Given the description of an element on the screen output the (x, y) to click on. 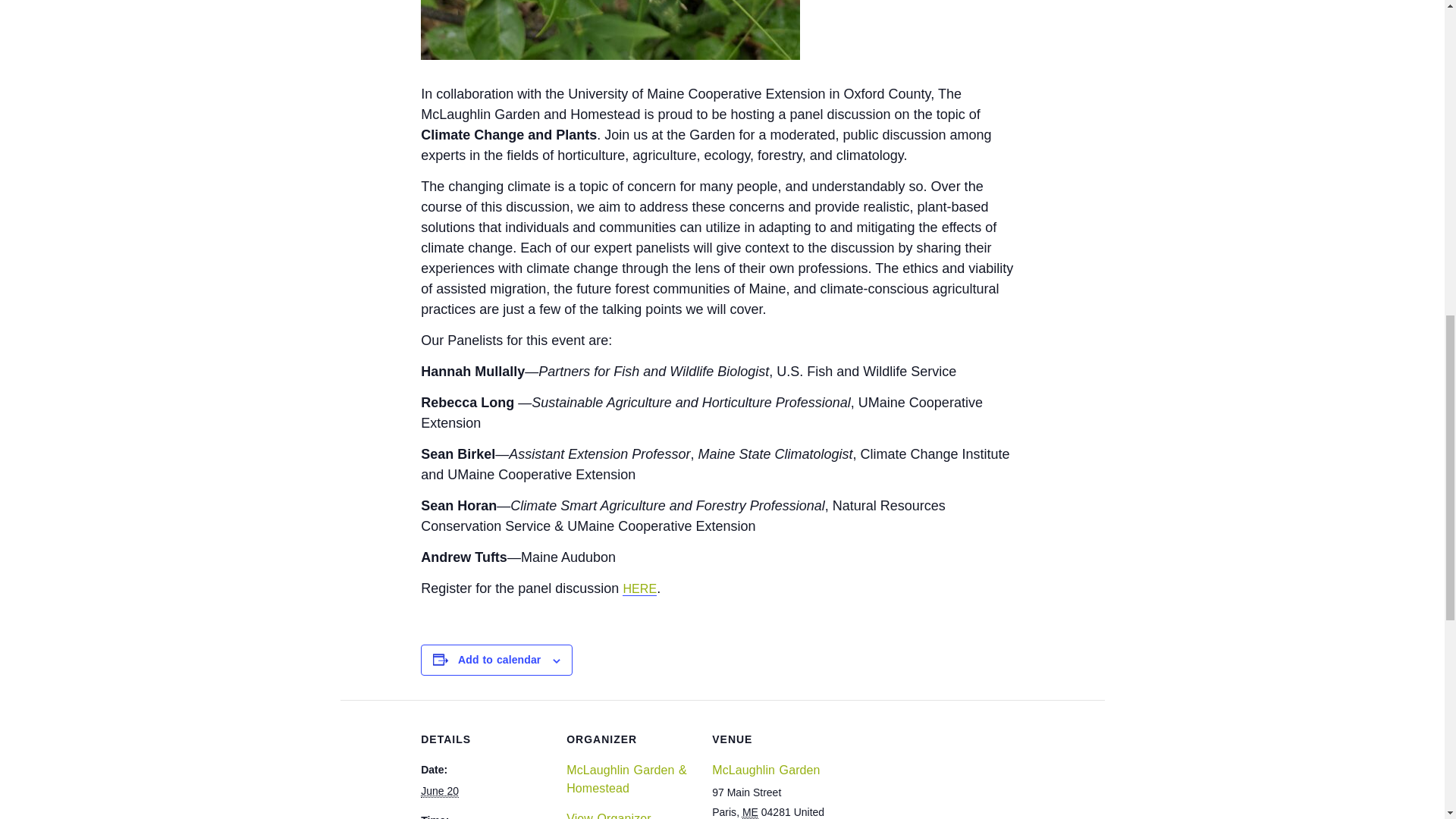
Maine (750, 812)
2024-06-20 (439, 790)
